Given the description of an element on the screen output the (x, y) to click on. 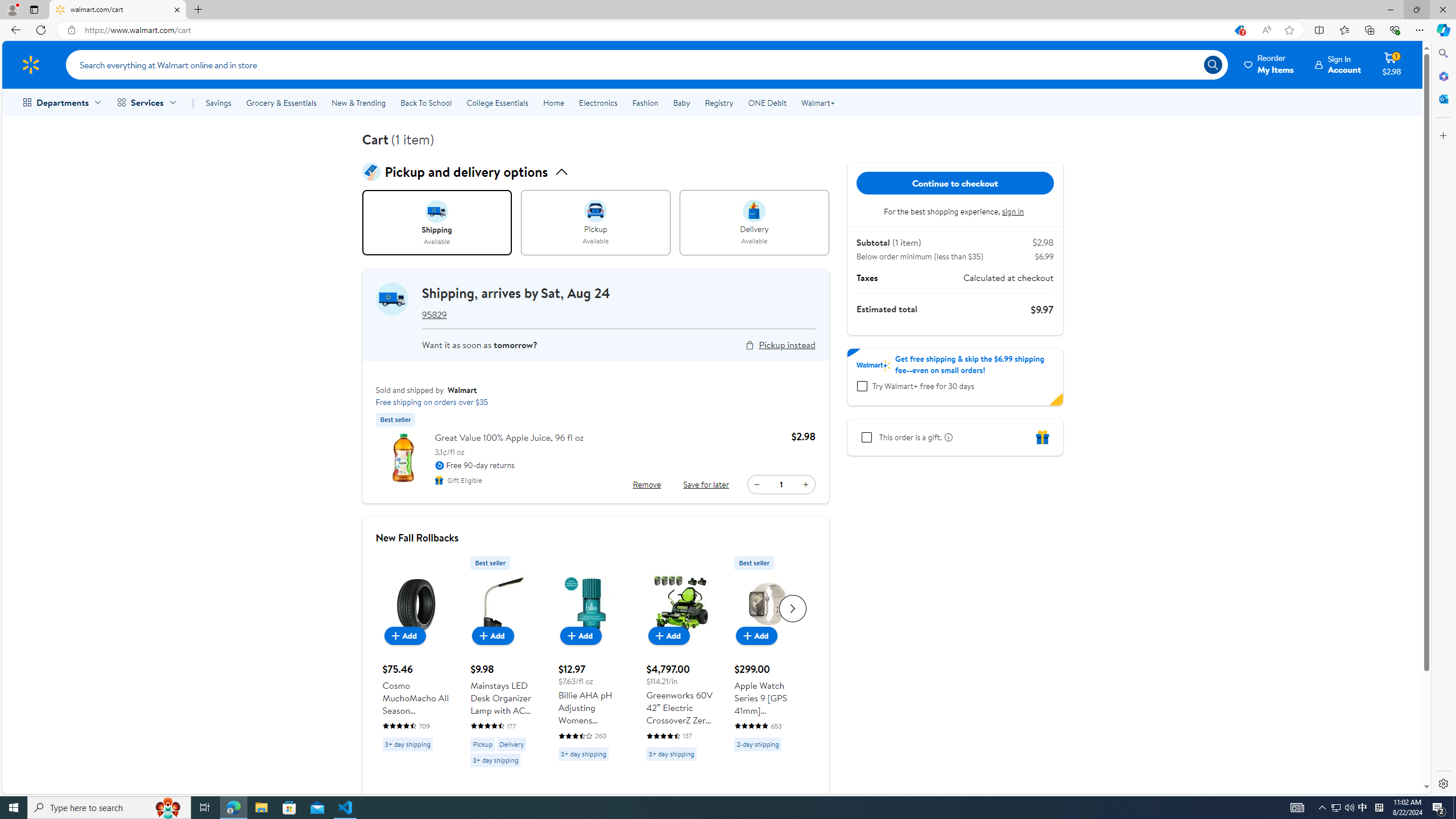
ONE Debit (767, 102)
DELIVERY, Available (753, 222)
PICKUP, Available (595, 222)
ReorderMy Items (1269, 64)
